Given the description of an element on the screen output the (x, y) to click on. 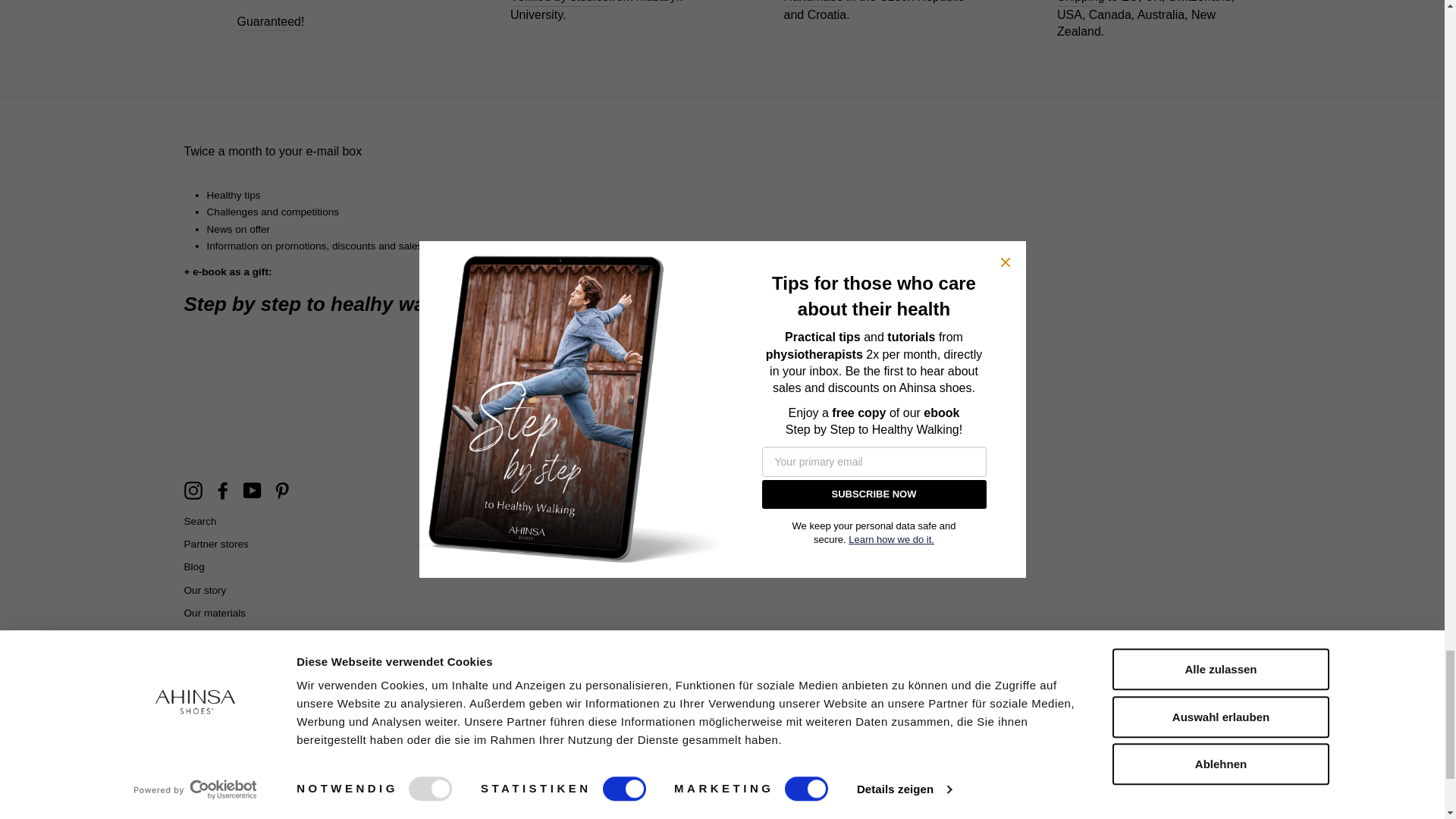
Barefoot shoes (559, 2)
